Given the description of an element on the screen output the (x, y) to click on. 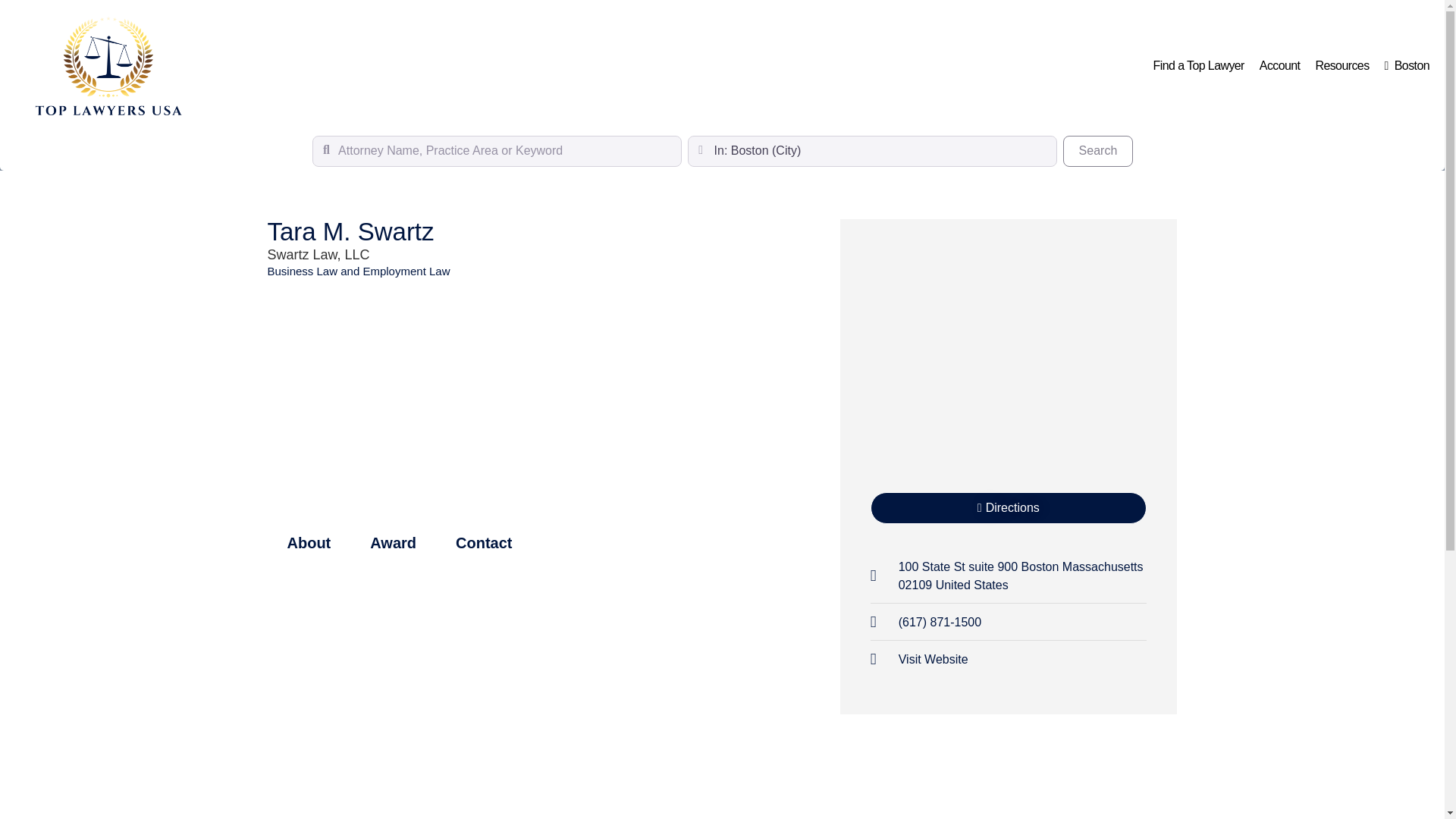
Account (1279, 65)
Find a Top Lawyer (1097, 150)
Business Law (1198, 65)
Resources (301, 270)
Visit Website (1341, 65)
Directions (919, 659)
Employment Law (1008, 508)
Boston (405, 270)
